Given the description of an element on the screen output the (x, y) to click on. 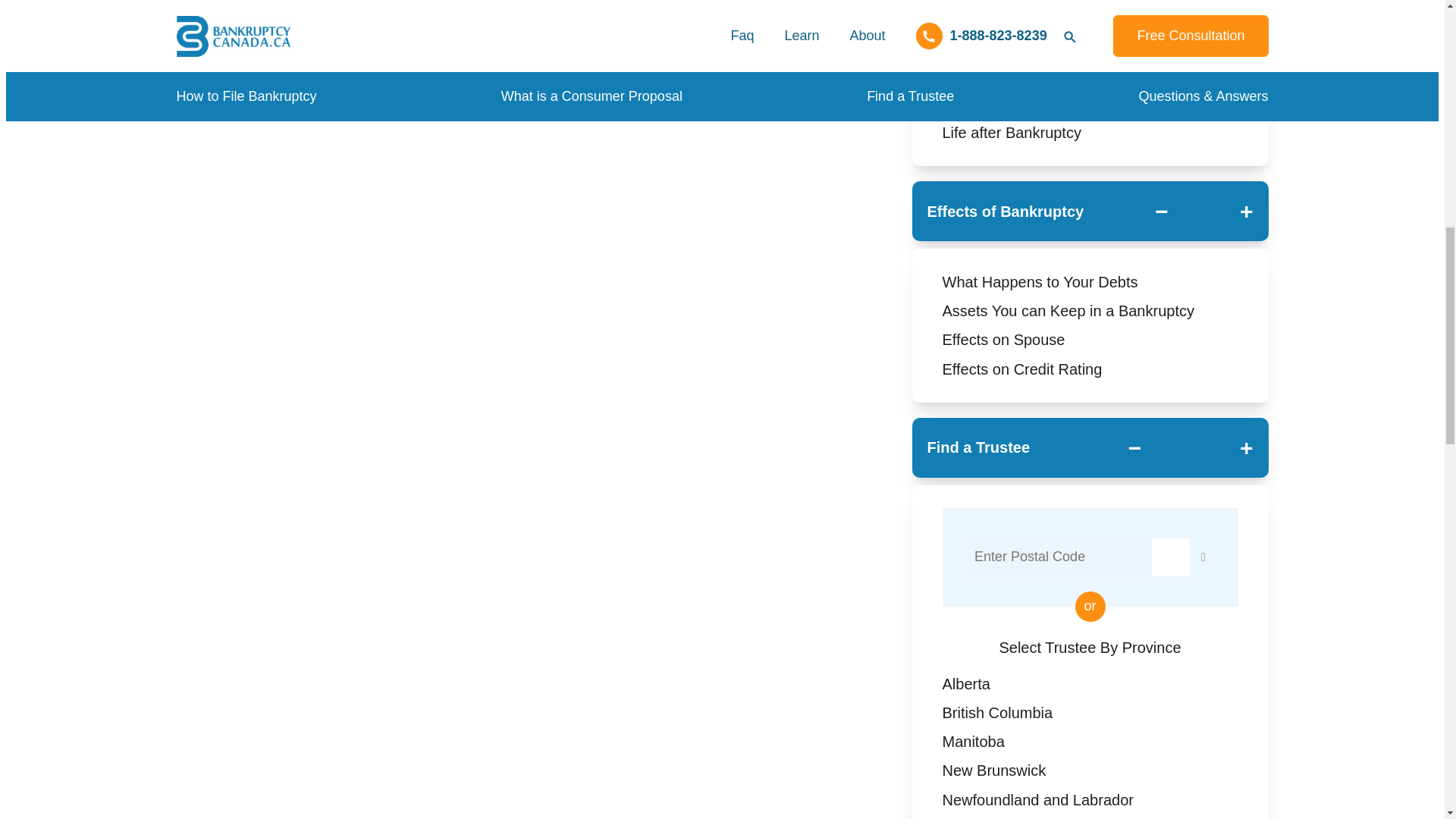
Use your current location (1202, 556)
Search (1170, 557)
